Given the description of an element on the screen output the (x, y) to click on. 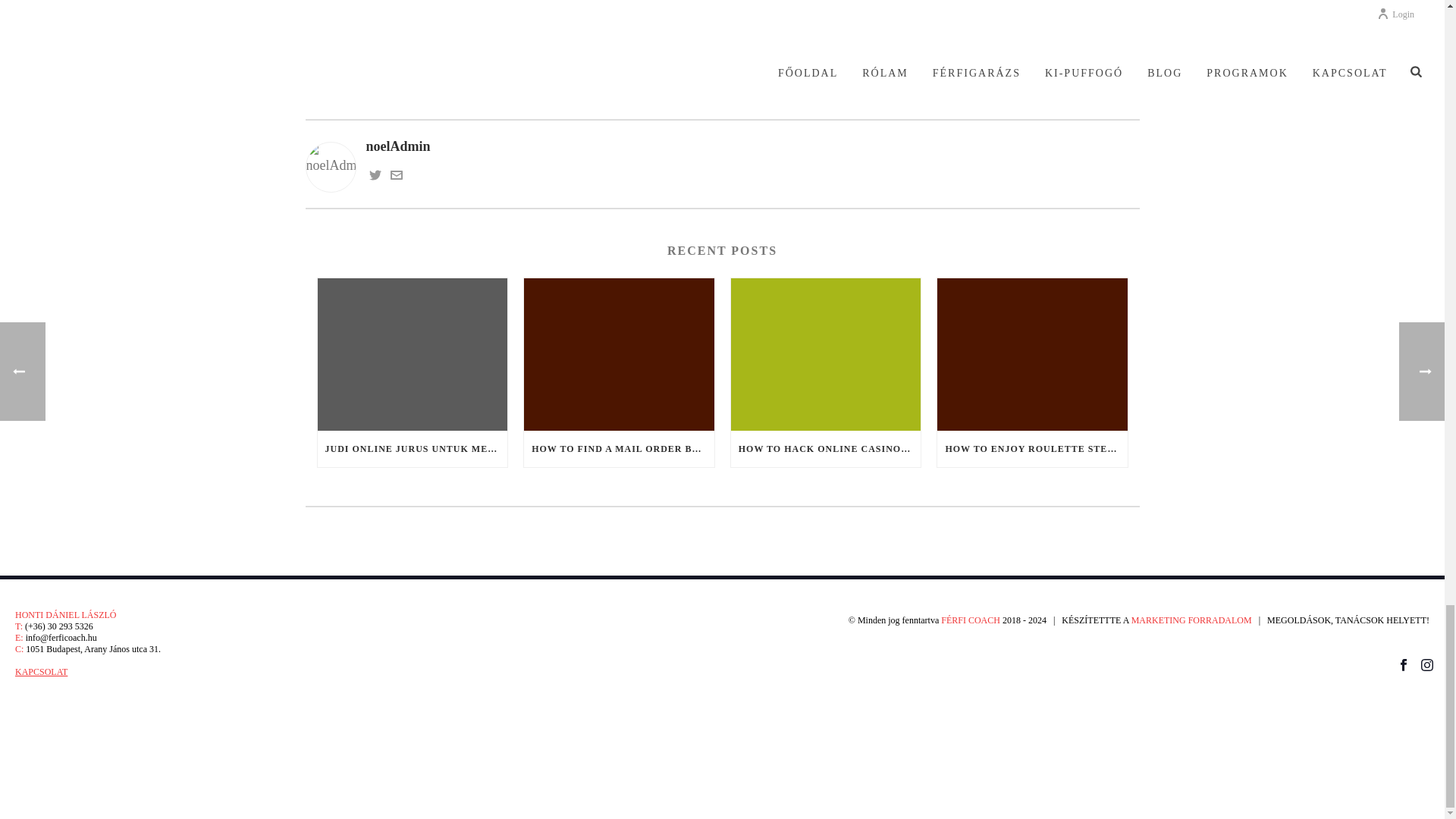
How To Hack Online Casino? Find Your Strateg (825, 354)
How To Enjoy Roulette Step-by-step Manual To Roulette Rule (1031, 354)
noelAdmin (721, 146)
